Given the description of an element on the screen output the (x, y) to click on. 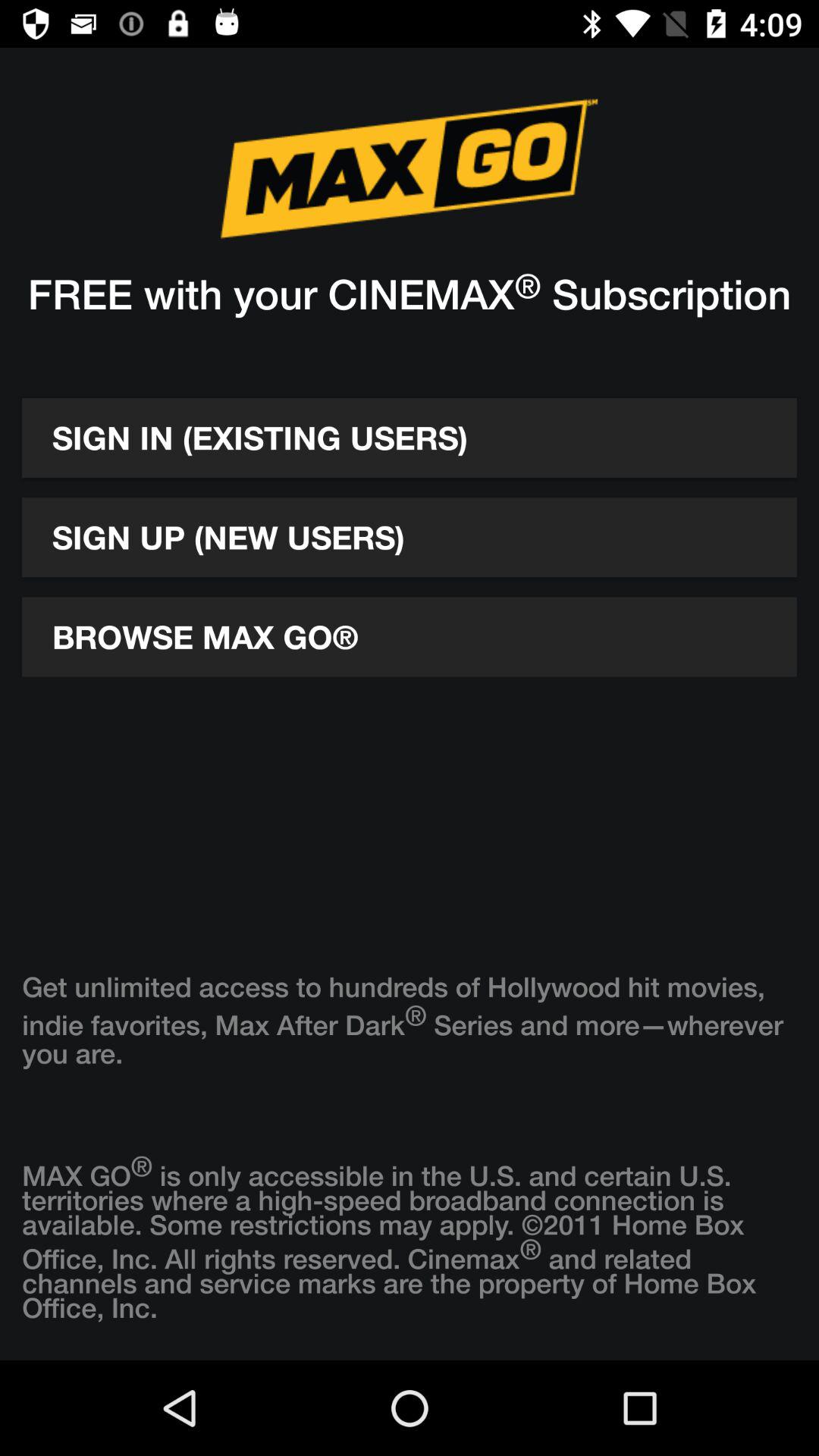
launch the item below free with your icon (409, 437)
